Given the description of an element on the screen output the (x, y) to click on. 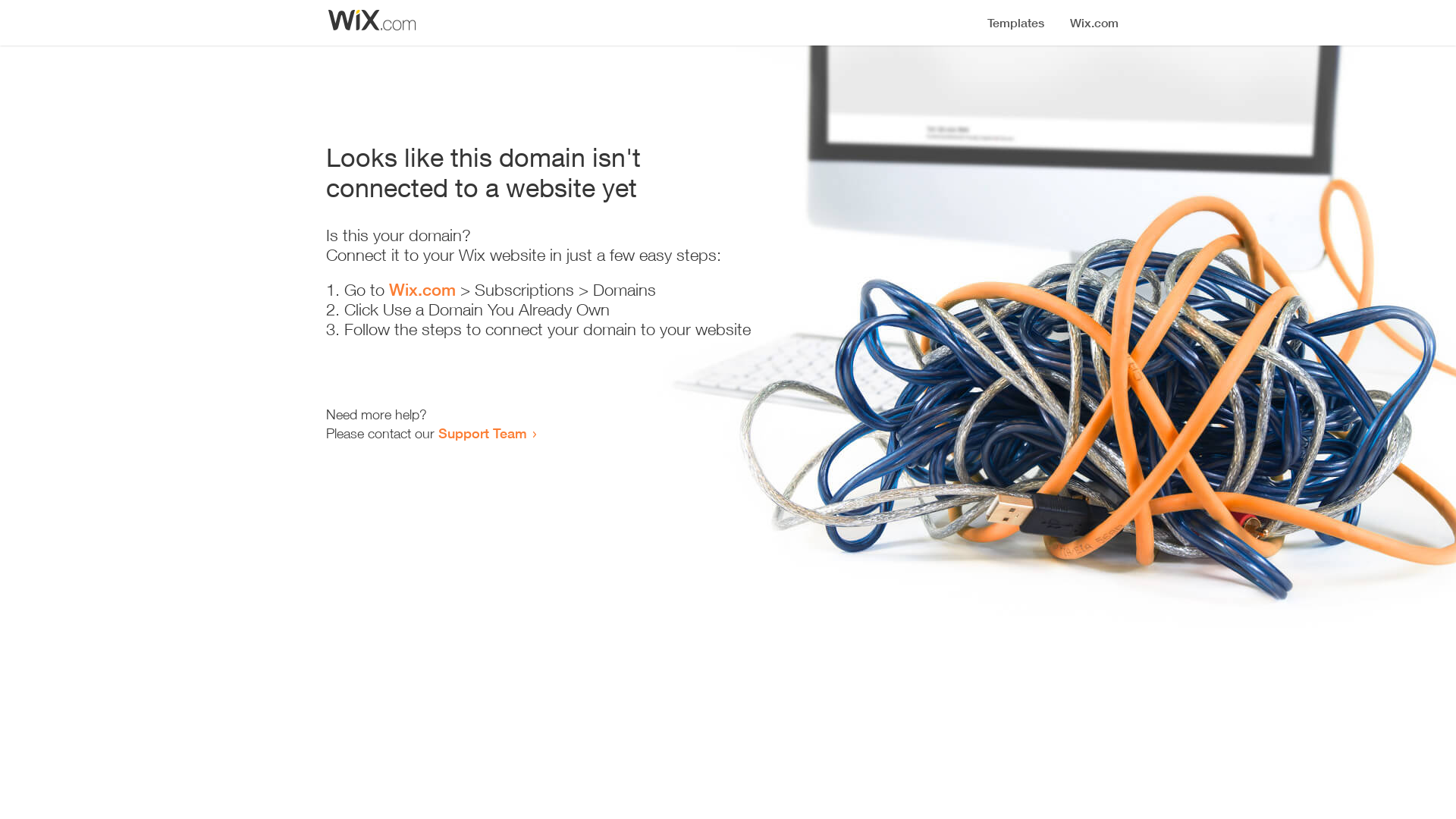
Wix.com Element type: text (422, 289)
Support Team Element type: text (482, 432)
